Given the description of an element on the screen output the (x, y) to click on. 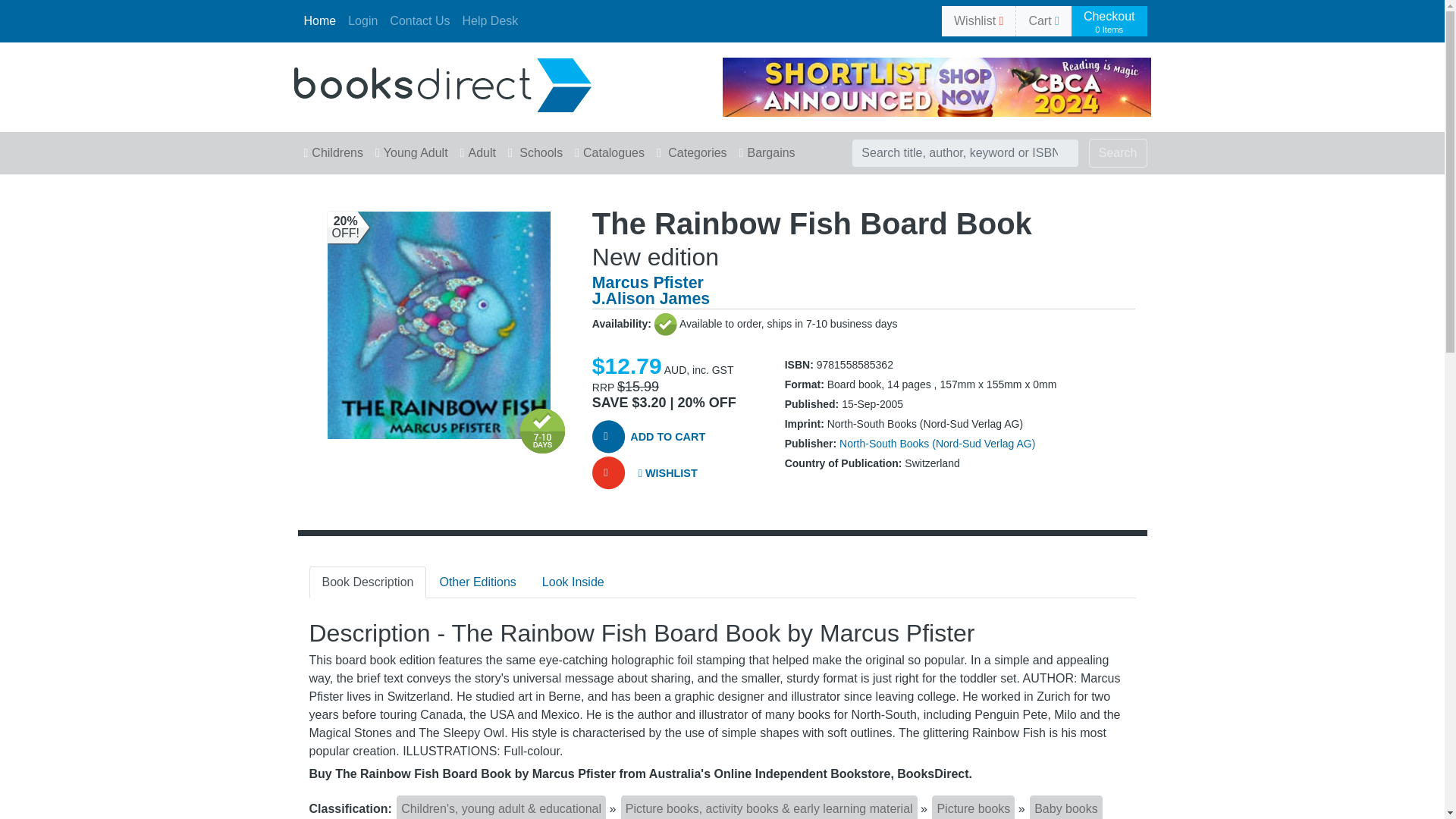
Add this book to your wishlist (665, 473)
Wishlist (978, 20)
Add this book to your cart (665, 438)
Login (363, 20)
Contact Us (419, 20)
BooksDirect (442, 83)
Cart (1043, 20)
Help Desk (489, 20)
